Given the description of an element on the screen output the (x, y) to click on. 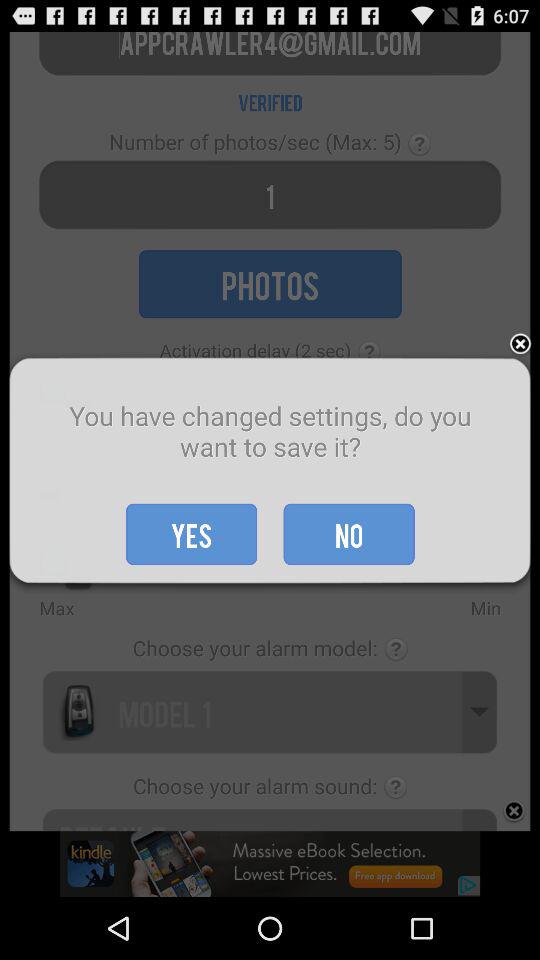
open button next to the no button (191, 534)
